Given the description of an element on the screen output the (x, y) to click on. 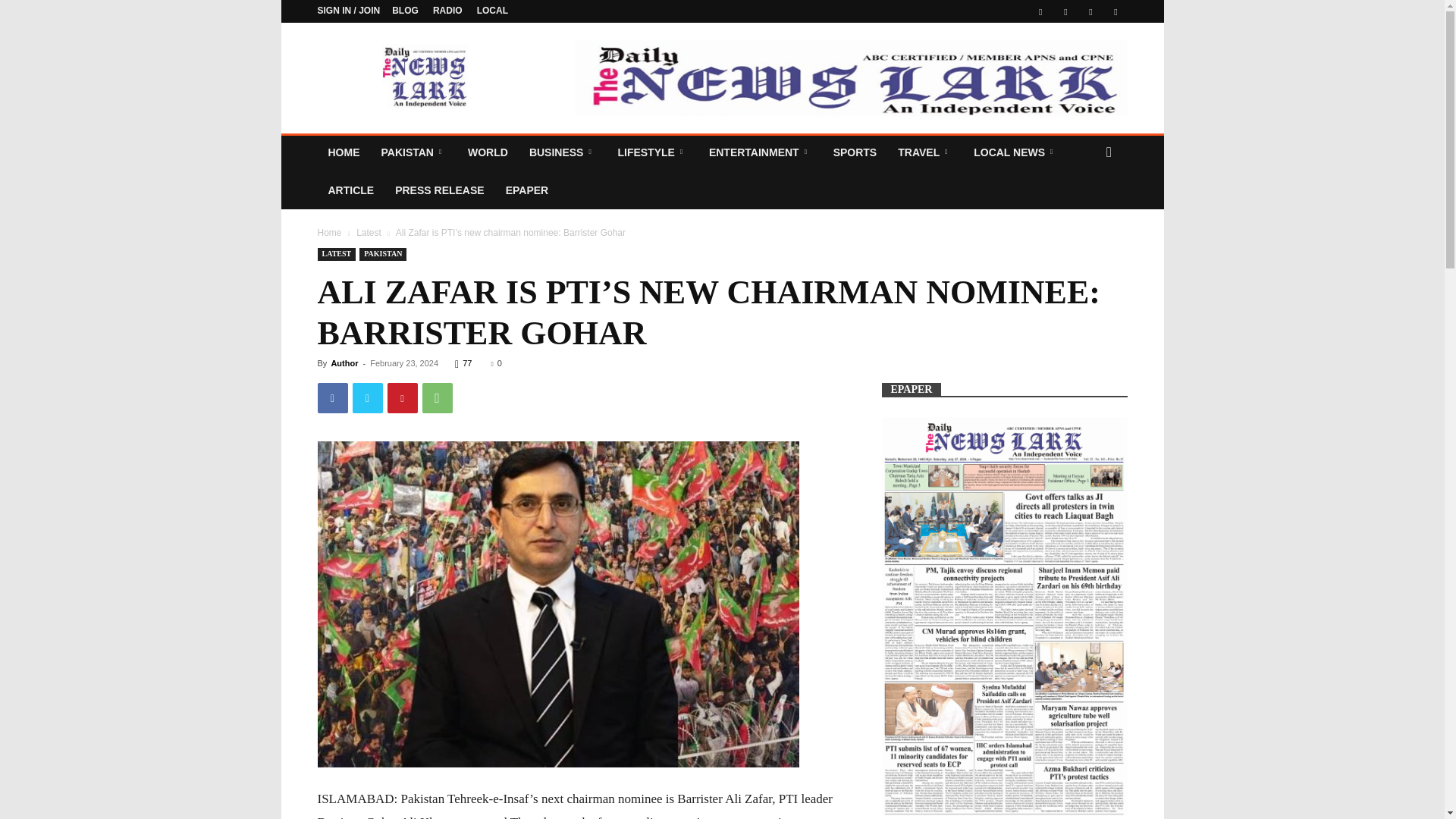
RADIO (447, 9)
Facebook (1040, 11)
VKontakte (1090, 11)
BLOG (405, 9)
Twitter (1065, 11)
Youtube (1114, 11)
LOCAL (492, 9)
